Given the description of an element on the screen output the (x, y) to click on. 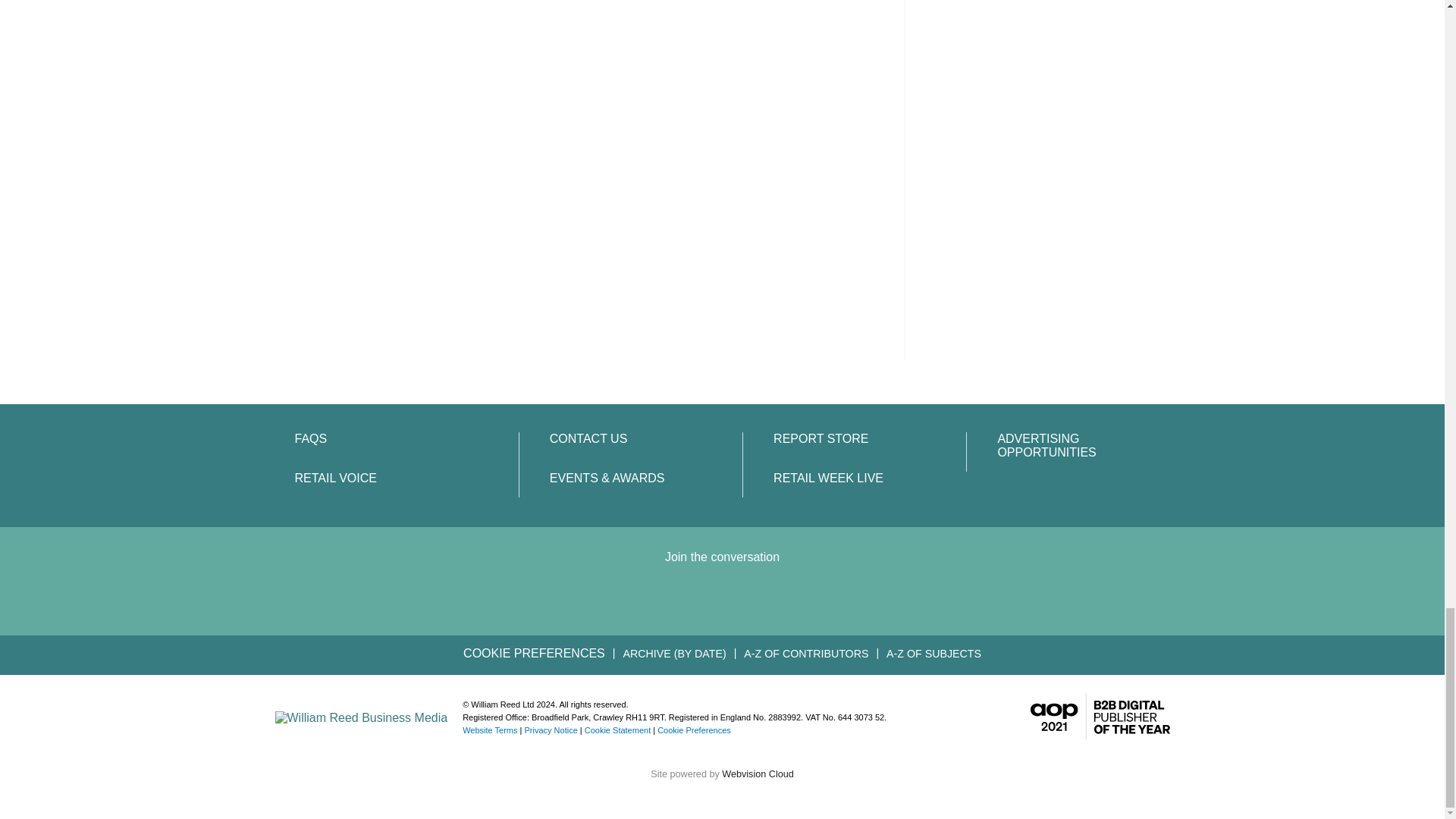
Connect with us on LinkedIn (639, 598)
Connect with us on X (694, 598)
Connect with us on Instagram (804, 598)
Connect with us on Facebook (750, 598)
